Given the description of an element on the screen output the (x, y) to click on. 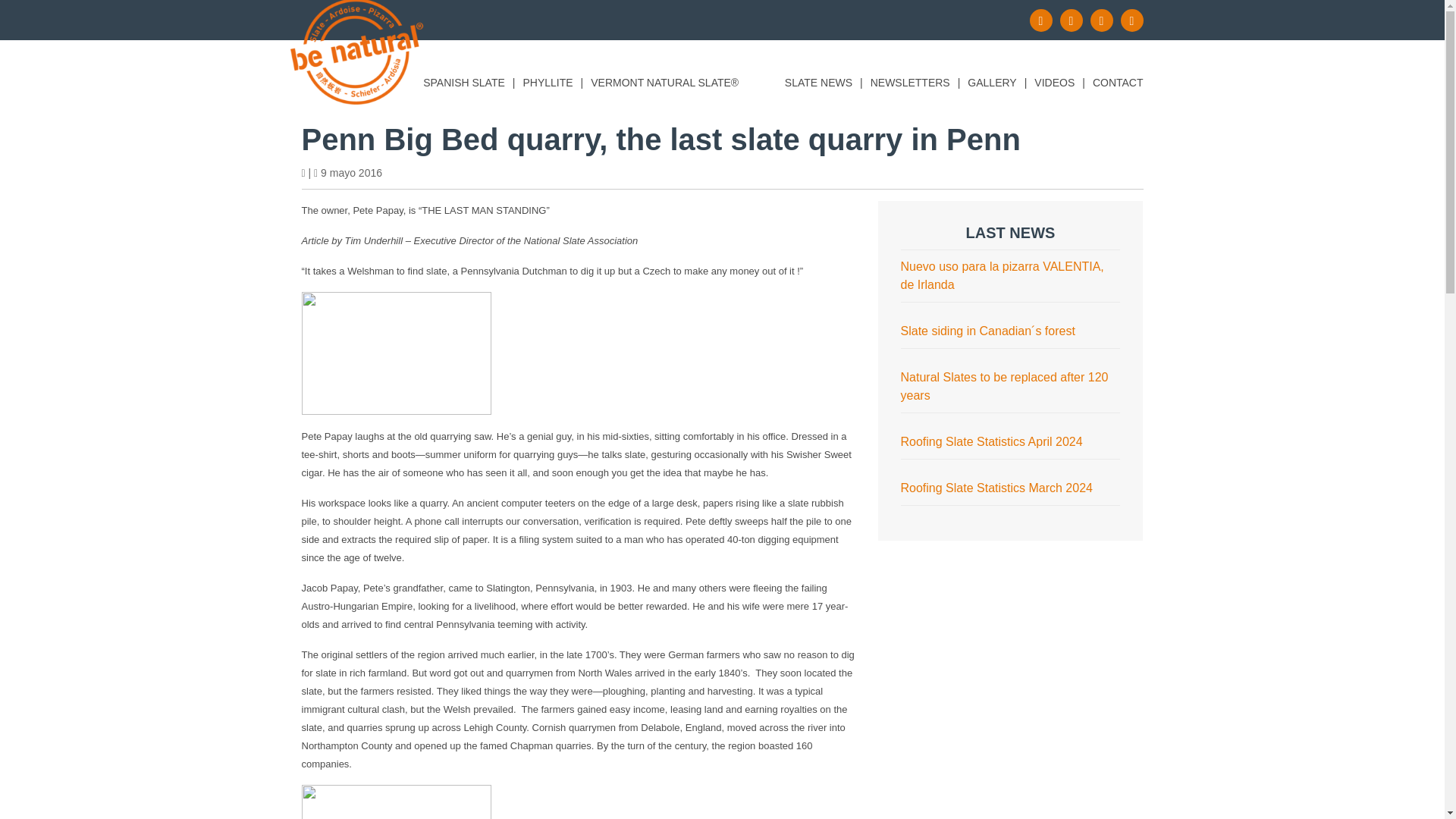
VIDEOS (1053, 85)
SLATE NEWS (817, 85)
CONTACT (1117, 85)
SLATE NEWS (817, 85)
SPANISH SLATE (464, 85)
CONTACT (1117, 85)
PHYLLITE (547, 85)
NEWSLETTERS (910, 85)
VIDEOS (1053, 85)
NEWSLETTERS (910, 85)
